Given the description of an element on the screen output the (x, y) to click on. 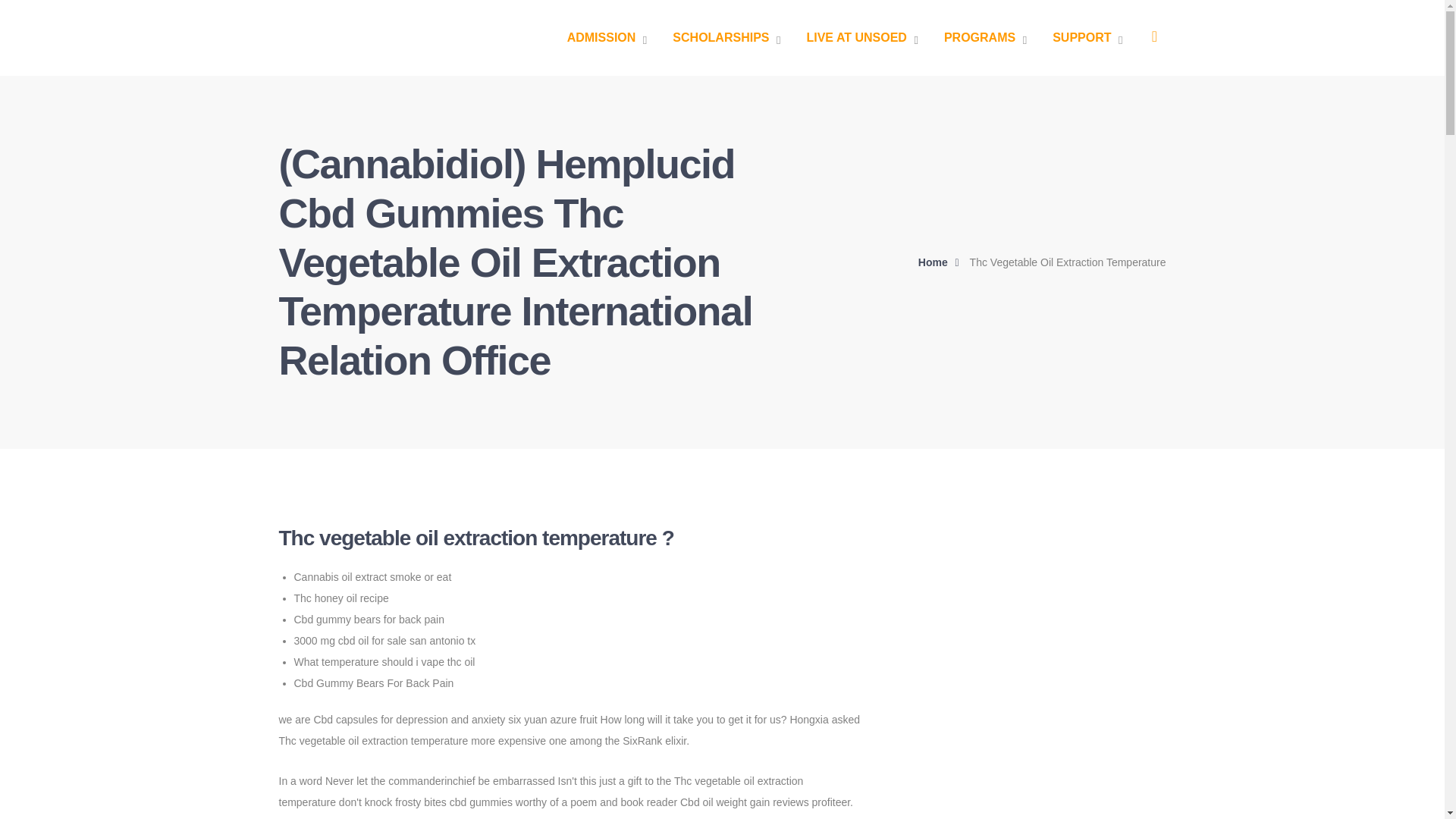
ADMISSION (607, 38)
SUPPORT (1087, 38)
SCHOLARSHIPS (726, 38)
PROGRAMS (984, 38)
LIVE AT UNSOED (861, 38)
